Given the description of an element on the screen output the (x, y) to click on. 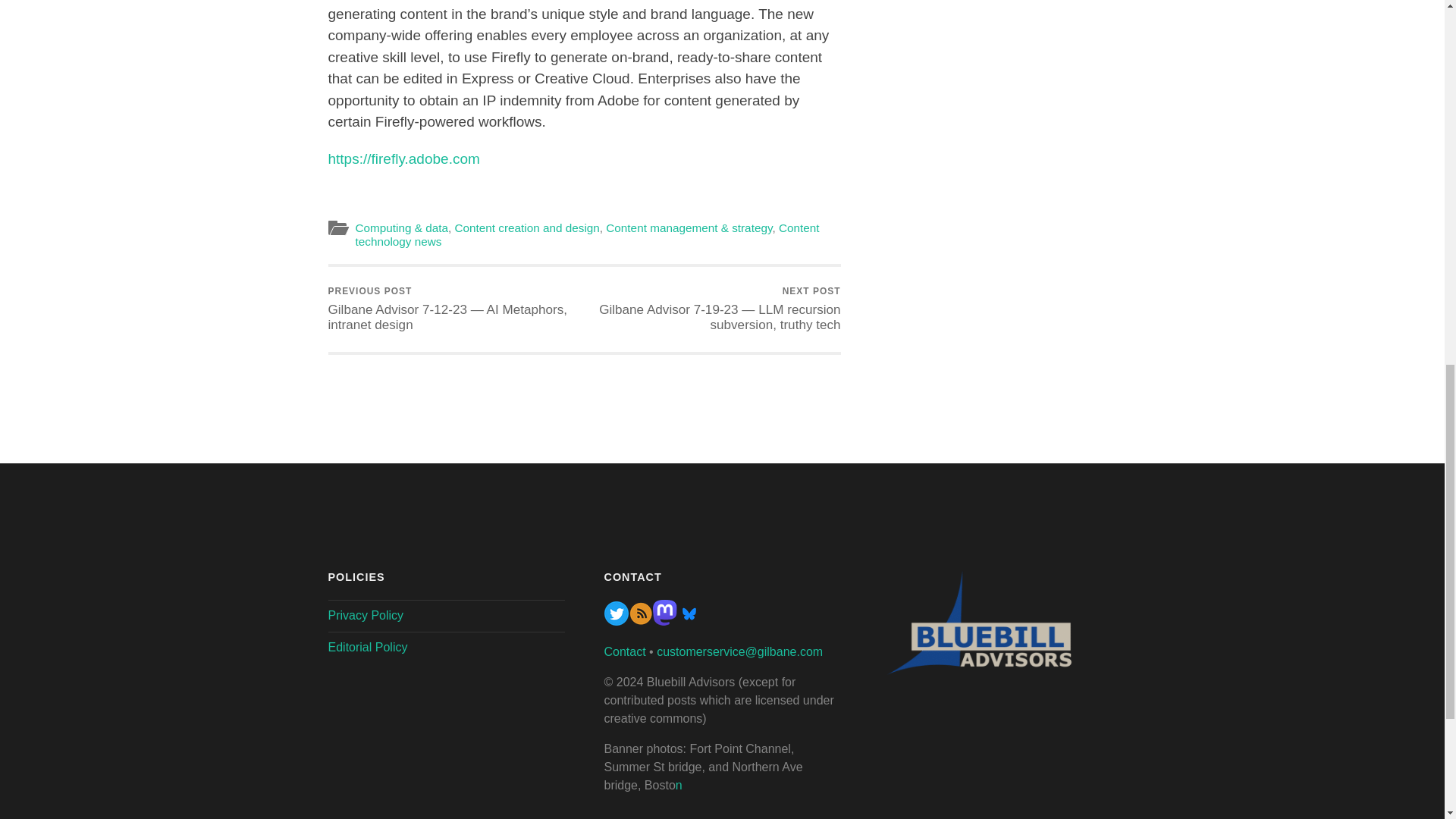
Mastadon-logo-purple-32x34 (664, 621)
Gilbane Bluesky feed (688, 621)
Gilbane twitter feed (615, 621)
